Given the description of an element on the screen output the (x, y) to click on. 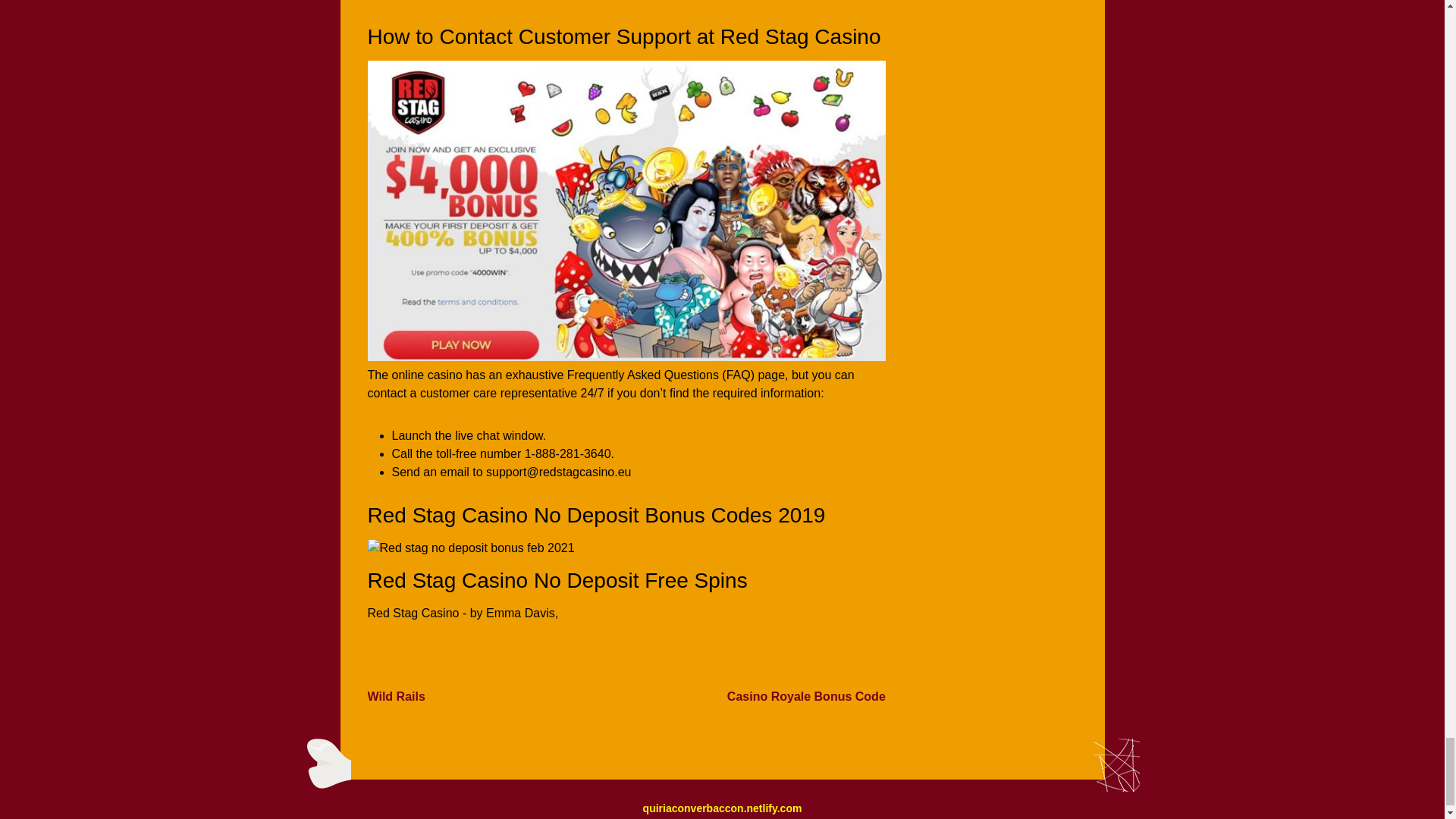
quiriaconverbaccon.netlify.com (722, 808)
Wild Rails (395, 696)
Red stag no deposit bonus feb 2021 (469, 547)
Casino Royale Bonus Code (805, 696)
